Given the description of an element on the screen output the (x, y) to click on. 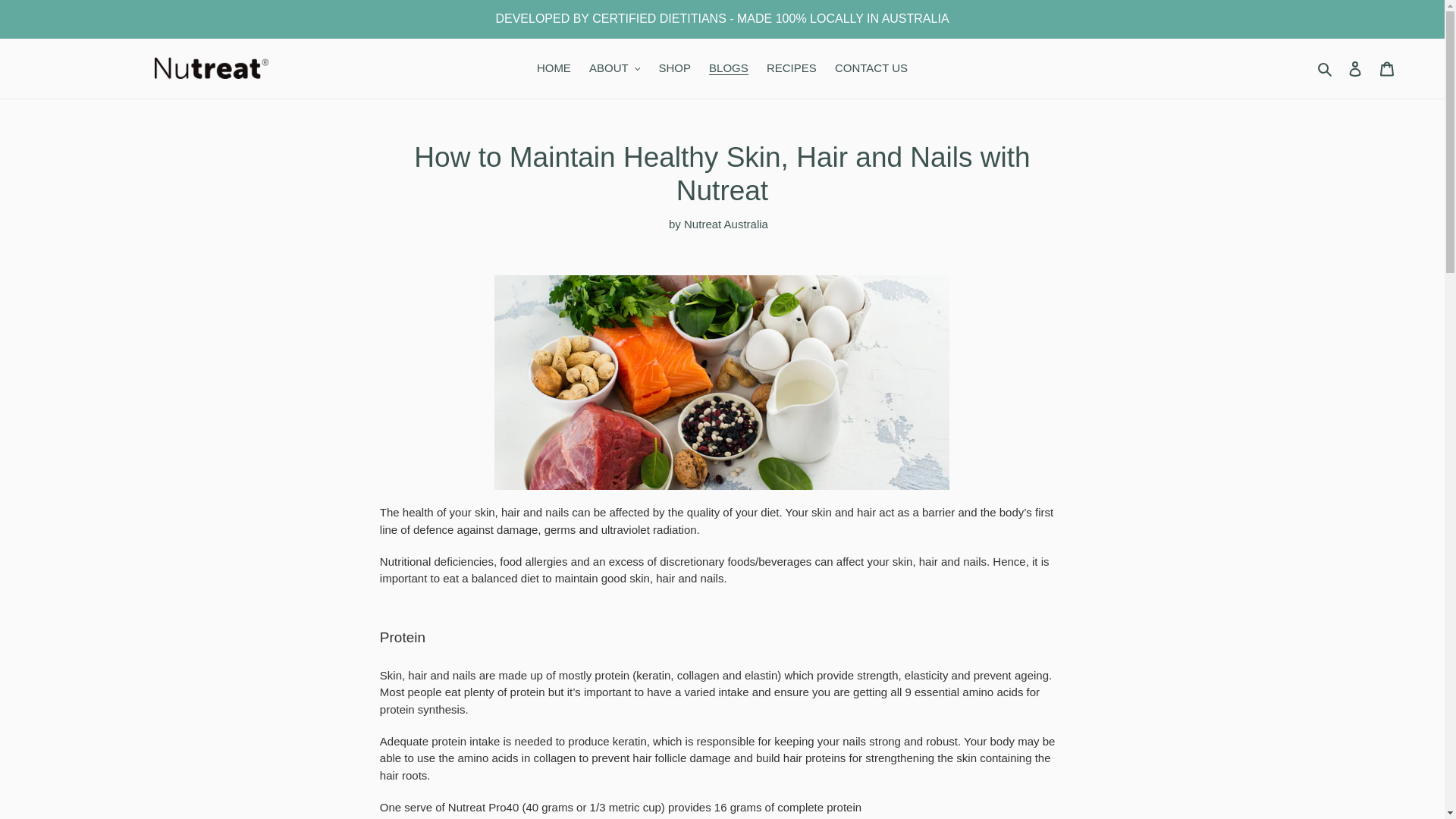
Log in (1355, 68)
Search (1326, 67)
Cart (1387, 68)
CONTACT US (871, 68)
BLOGS (728, 68)
ABOUT (613, 68)
HOME (553, 68)
SHOP (674, 68)
RECIPES (791, 68)
